Given the description of an element on the screen output the (x, y) to click on. 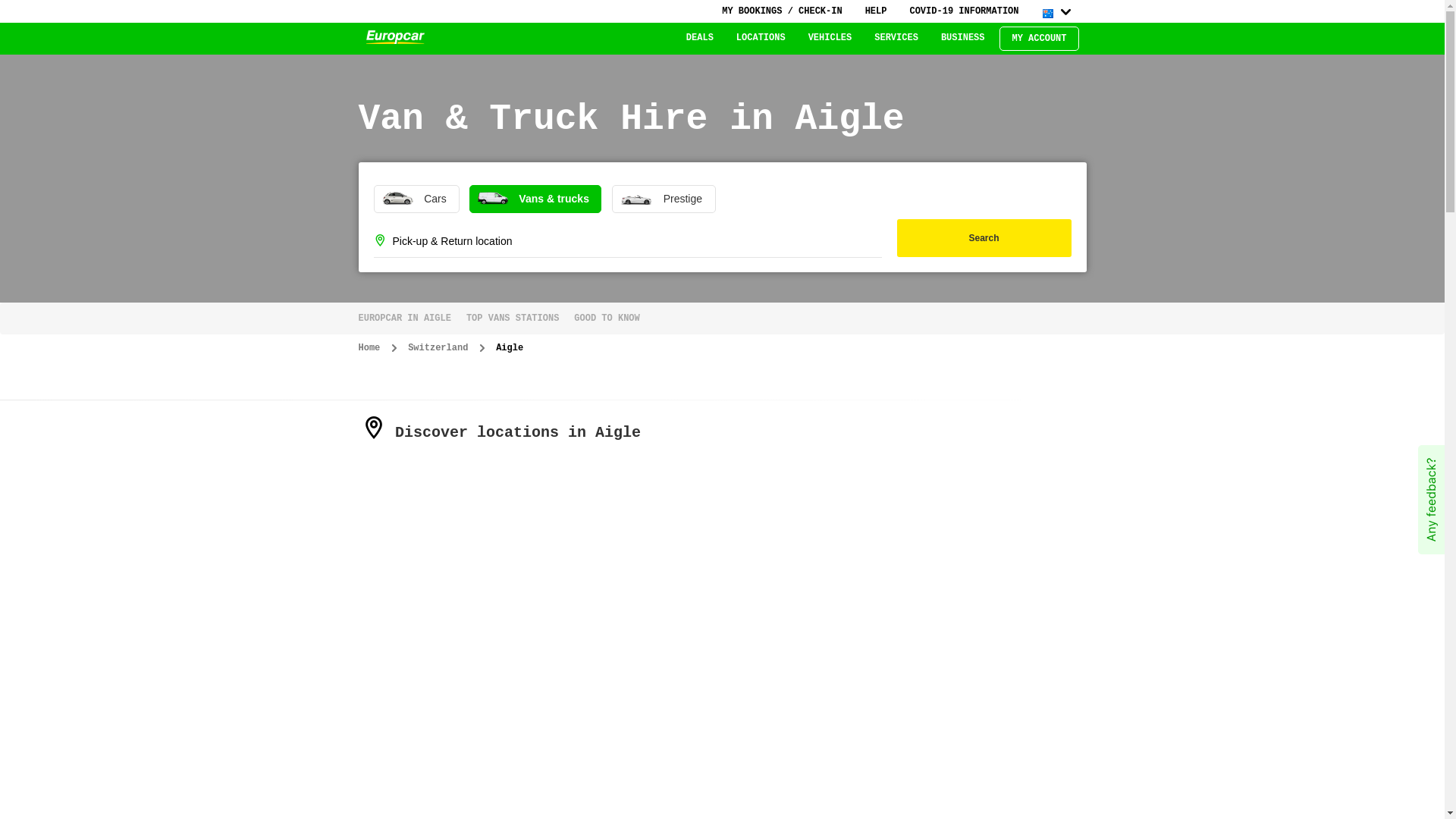
Cars Element type: text (415, 199)
Switzerland Element type: text (437, 347)
EUROPCAR IN AIGLE Element type: text (407, 318)
LOCATIONS Element type: text (760, 37)
Search Element type: text (983, 238)
Home Element type: text (368, 347)
Prestige Element type: text (663, 199)
VEHICLES Element type: text (830, 37)
MY ACCOUNT Element type: text (1038, 38)
home Element type: hover (394, 37)
Usabilla Feedback Button Element type: hover (1431, 499)
BUSINESS Element type: text (962, 37)
MY BOOKINGS / CHECK-IN Element type: text (781, 11)
Vans & trucks Element type: text (535, 199)
GOOD TO KNOW Element type: text (606, 318)
SERVICES Element type: text (895, 37)
HELP Element type: text (875, 11)
TOP VANS STATIONS Element type: text (512, 318)
COVID-19 INFORMATION Element type: text (963, 11)
DEALS Element type: text (699, 37)
